Given the description of an element on the screen output the (x, y) to click on. 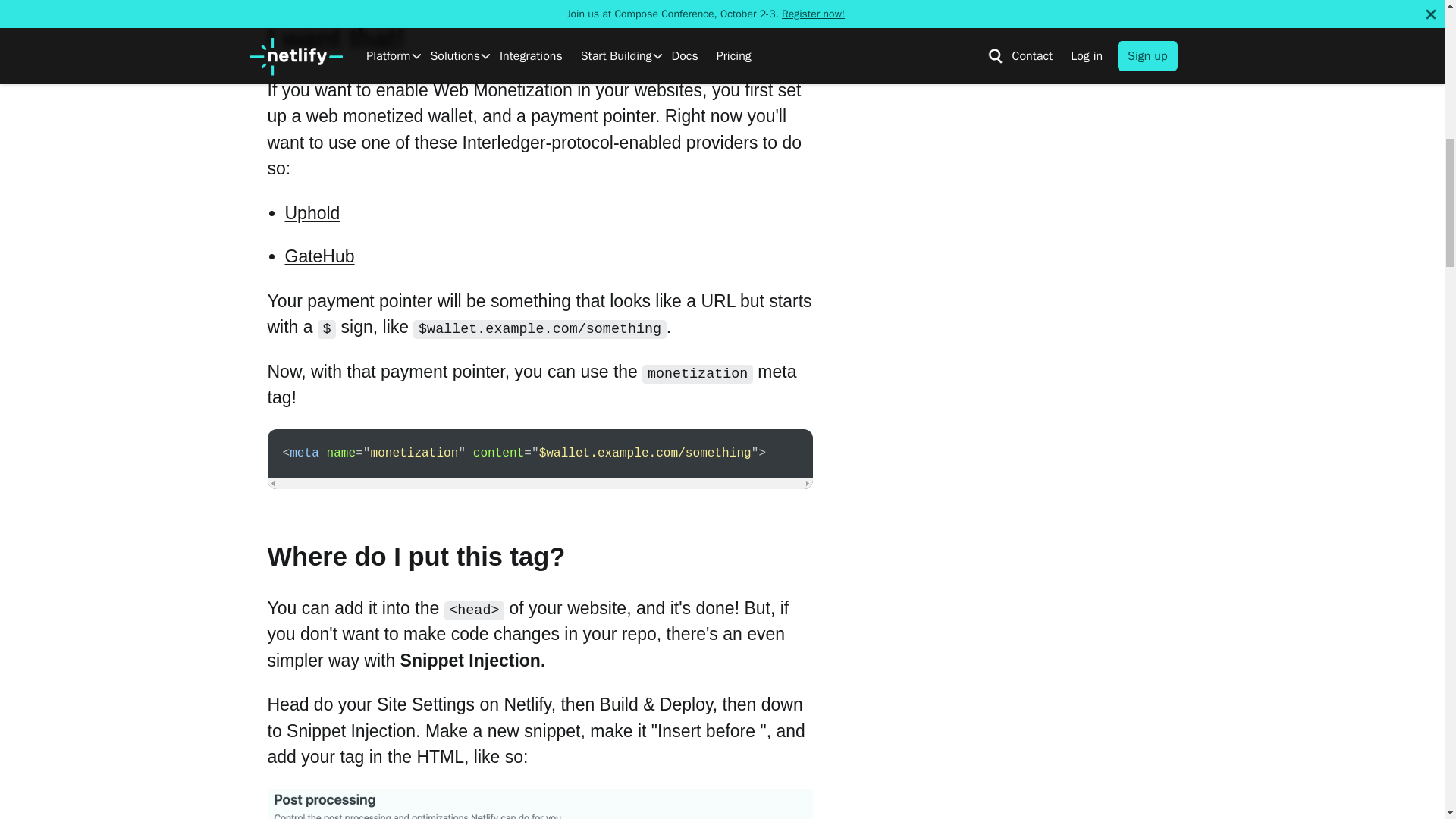
Snippet injection panel with monetization meta tag (539, 803)
